Given the description of an element on the screen output the (x, y) to click on. 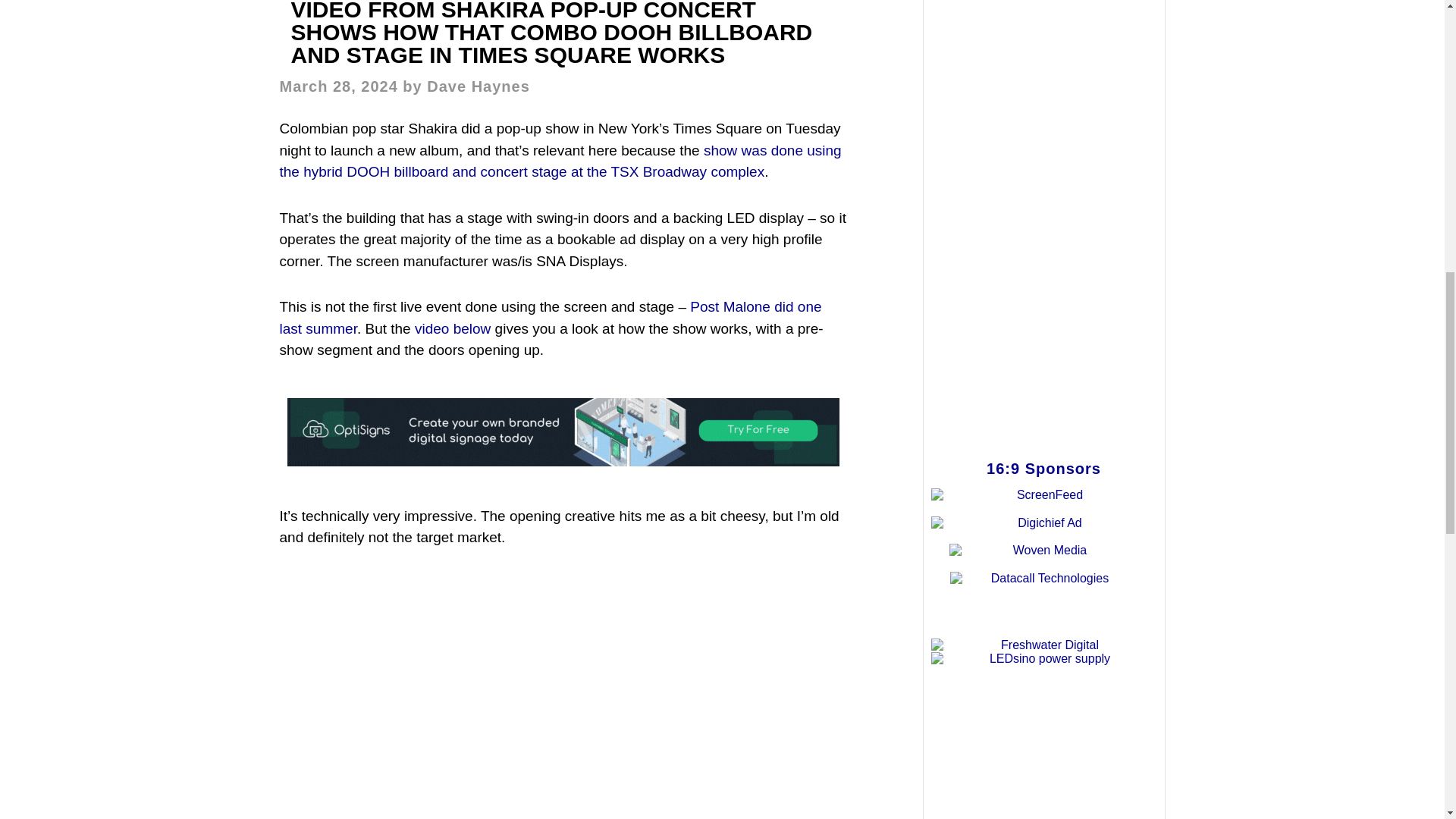
Shakira Live at TSX, Times Square (562, 686)
Post Malone did one last summer (550, 317)
video below (452, 328)
